Given the description of an element on the screen output the (x, y) to click on. 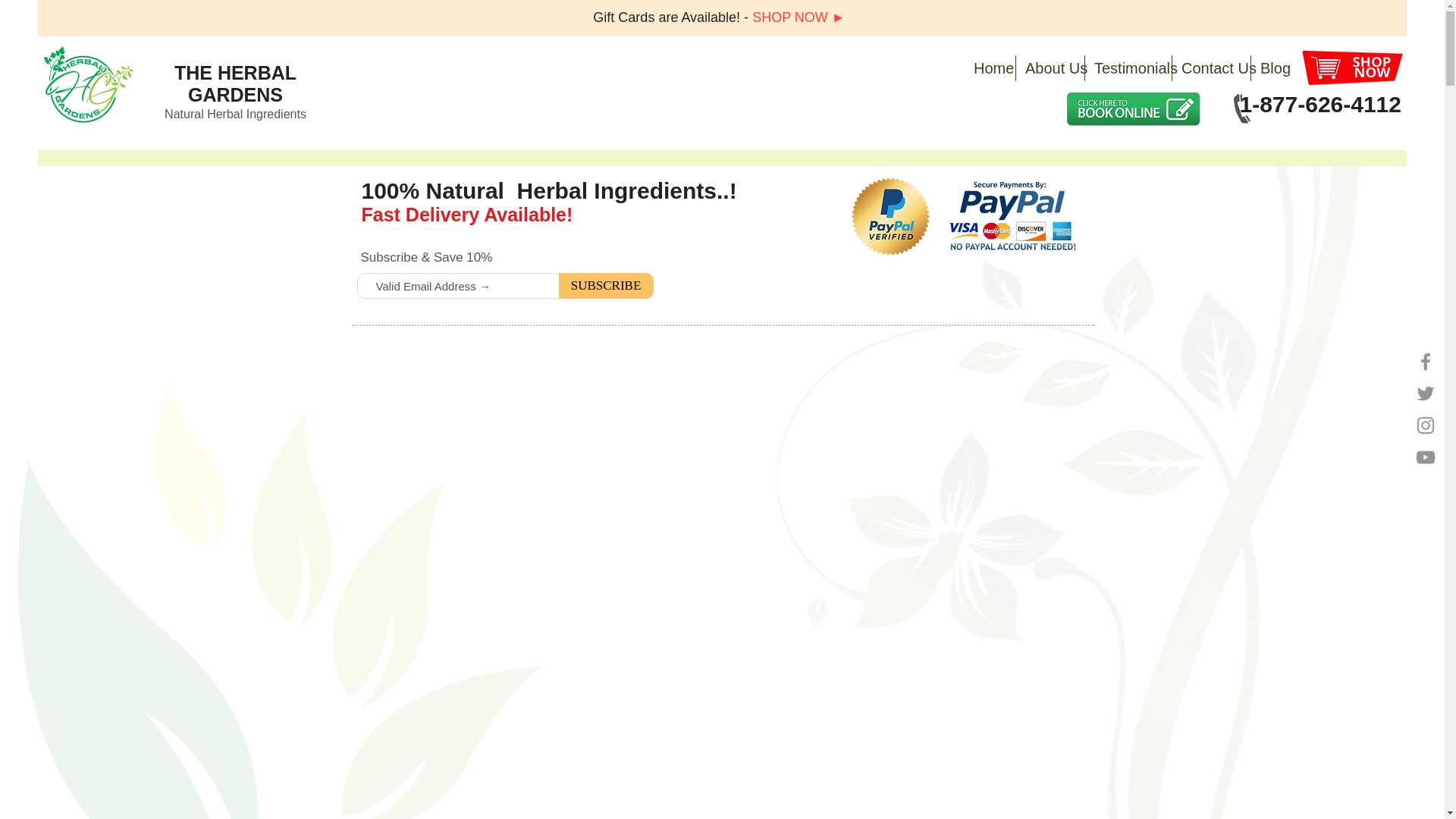
1-877-626-4112 (1319, 104)
Home (988, 68)
Natural Herbal Ingredients (234, 113)
Contact Us (1211, 68)
THE HERBAL GARDENS (235, 83)
SUBSCRIBE (604, 285)
About Us (1050, 68)
Blog (1272, 68)
Testimonials (1128, 68)
